Given the description of an element on the screen output the (x, y) to click on. 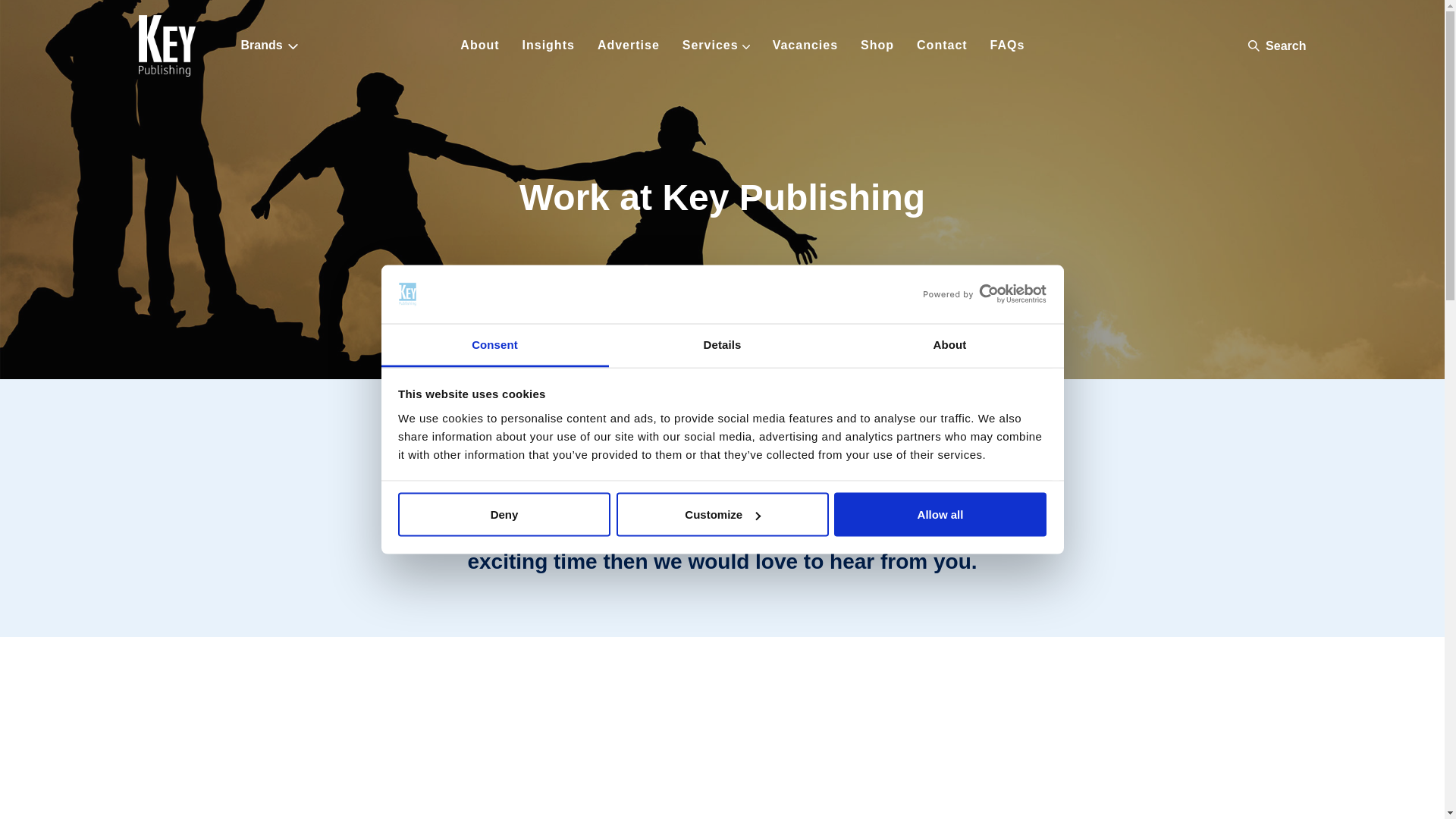
Consent (494, 344)
Deny (503, 515)
Allow all (940, 515)
About (948, 344)
Details (721, 344)
Customize (721, 515)
